Given the description of an element on the screen output the (x, y) to click on. 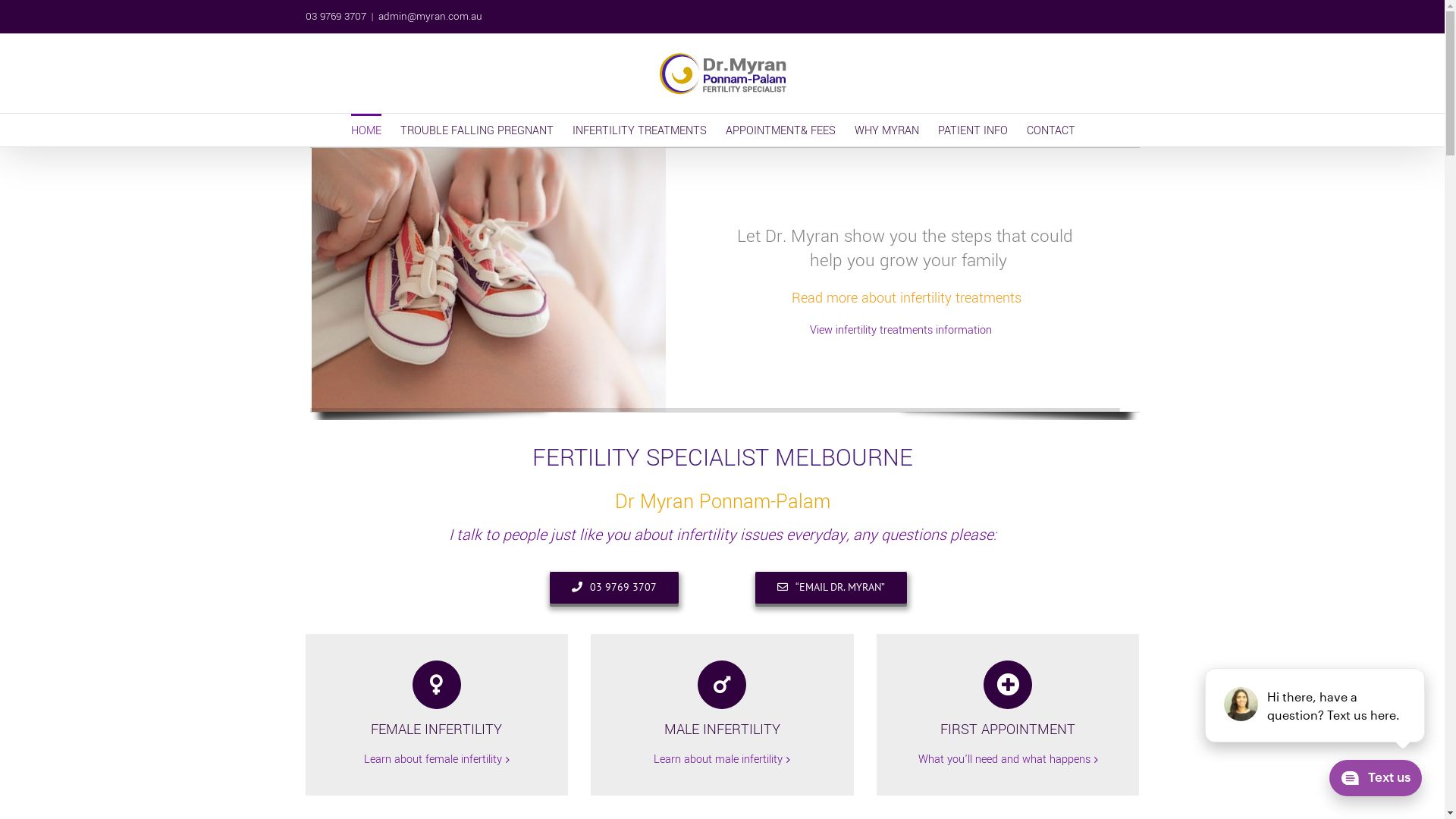
Learn about male infertility Element type: text (717, 759)
APPOINTMENT& FEES Element type: text (779, 129)
FEMALE INFERTILITY Element type: text (437, 699)
INFERTILITY TREATMENTS Element type: text (638, 129)
03 9769 3707 Element type: text (613, 587)
Learn about female infertility Element type: text (433, 759)
View infertility treatments information Element type: text (900, 330)
PATIENT INFO Element type: text (972, 129)
WHY MYRAN Element type: text (885, 129)
podium webchat widget prompt Element type: hover (1315, 705)
admin@myran.com.au Element type: text (429, 16)
What you'll need and what happens Element type: text (1004, 759)
FIRST APPOINTMENT Element type: text (1008, 699)
MALE INFERTILITY Element type: text (722, 699)
CONTACT Element type: text (1050, 129)
HOME Element type: text (365, 129)
TROUBLE FALLING PREGNANT Element type: text (476, 129)
